Given the description of an element on the screen output the (x, y) to click on. 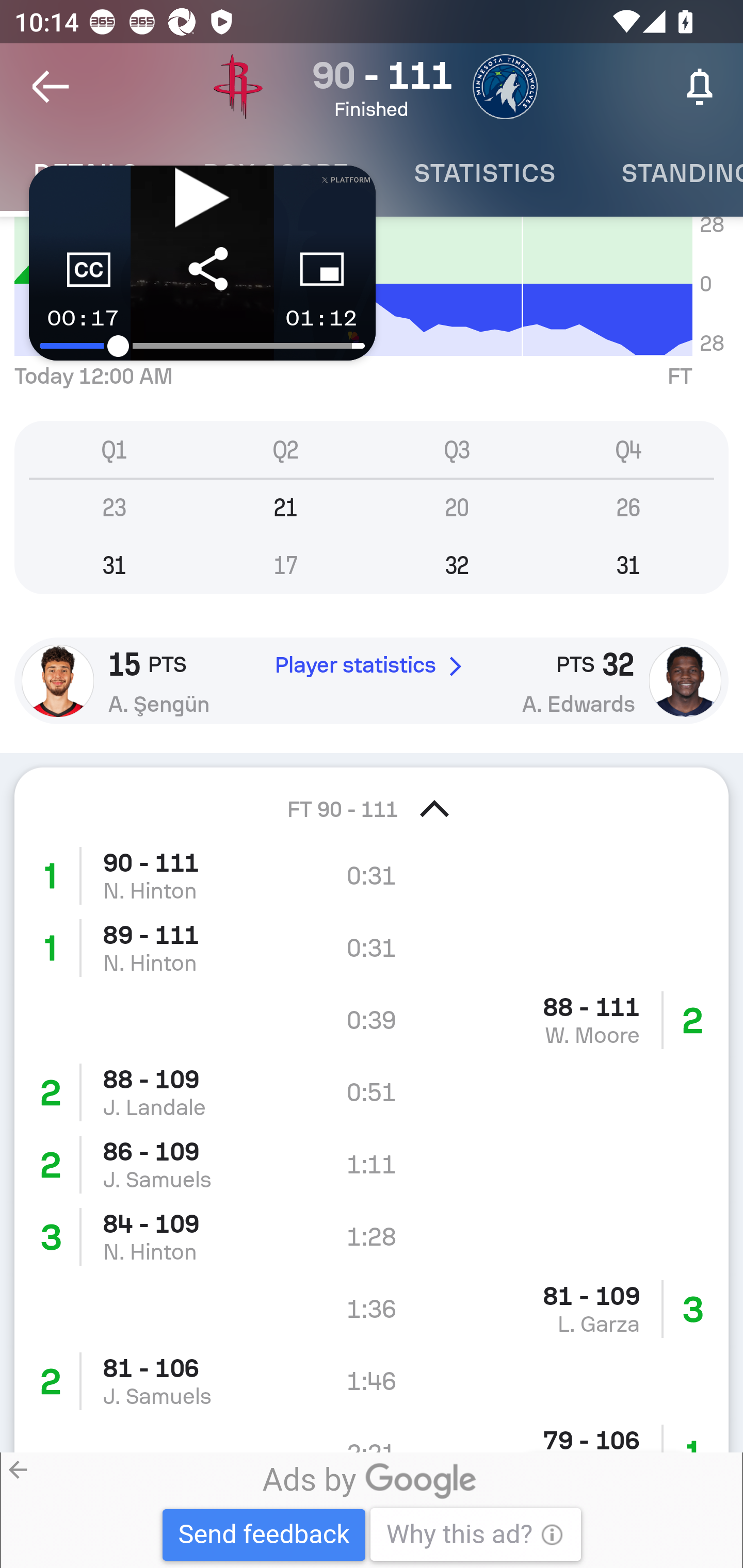
Navigate up (50, 86)
Statistics STATISTICS (484, 173)
Standings STANDINGS (665, 173)
FT 90 - 111 (371, 796)
90  -  111 N. Hinton 0:31 (371, 876)
89  -  111 N. Hinton 0:31 (371, 948)
111  -  88 W. Moore 0:39 (371, 1020)
88  -  109 J. Landale 0:51 (371, 1092)
86  -  109 J. Samuels 1:11 (371, 1164)
84  -  109 N. Hinton 1:28 (371, 1237)
109  -  81 L. Garza 1:36 (371, 1309)
81  -  106 J. Samuels 1:46 (371, 1381)
